Given the description of an element on the screen output the (x, y) to click on. 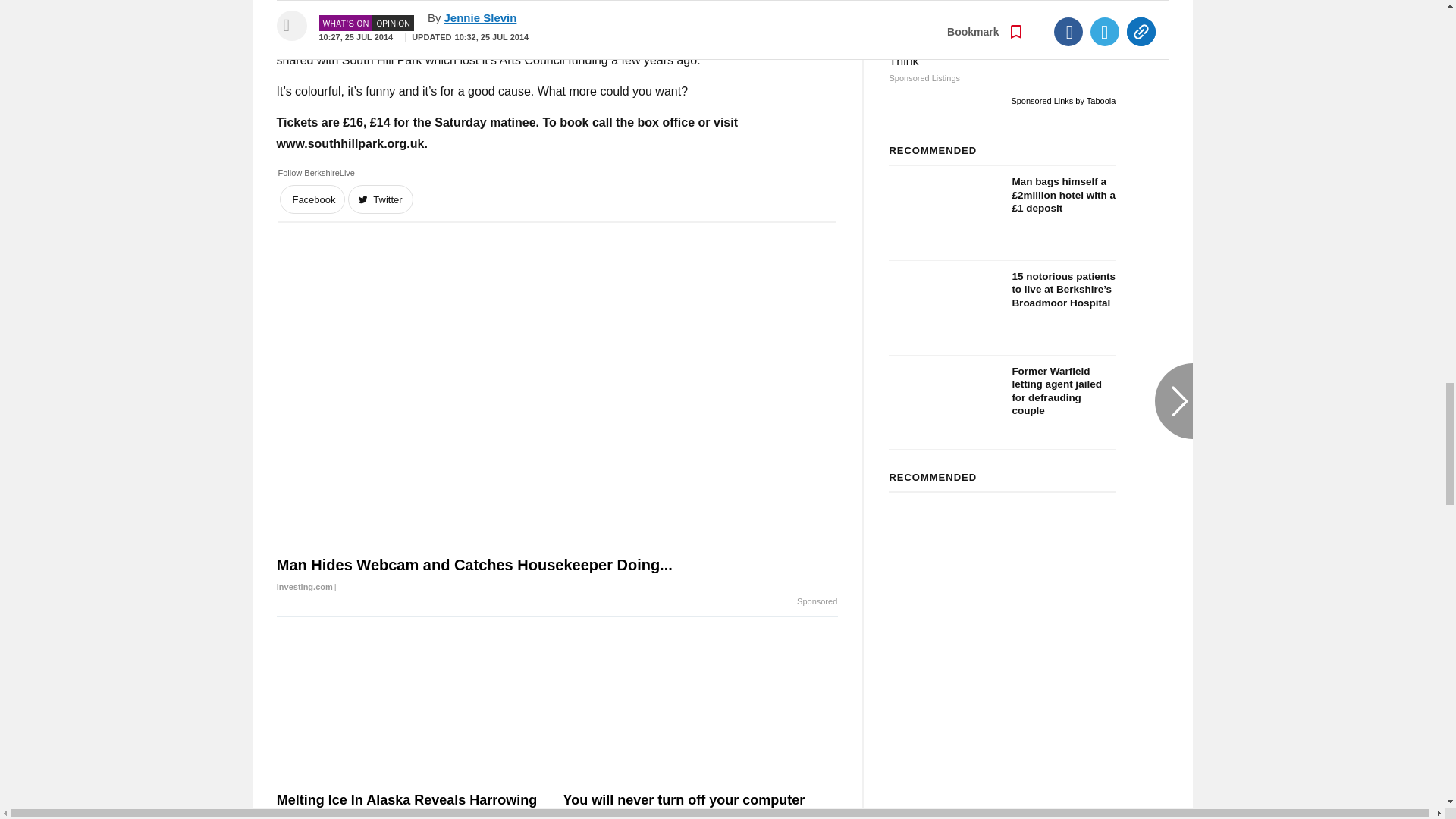
Man Hides Webcam and Catches Housekeeper Doing... (557, 576)
